Given the description of an element on the screen output the (x, y) to click on. 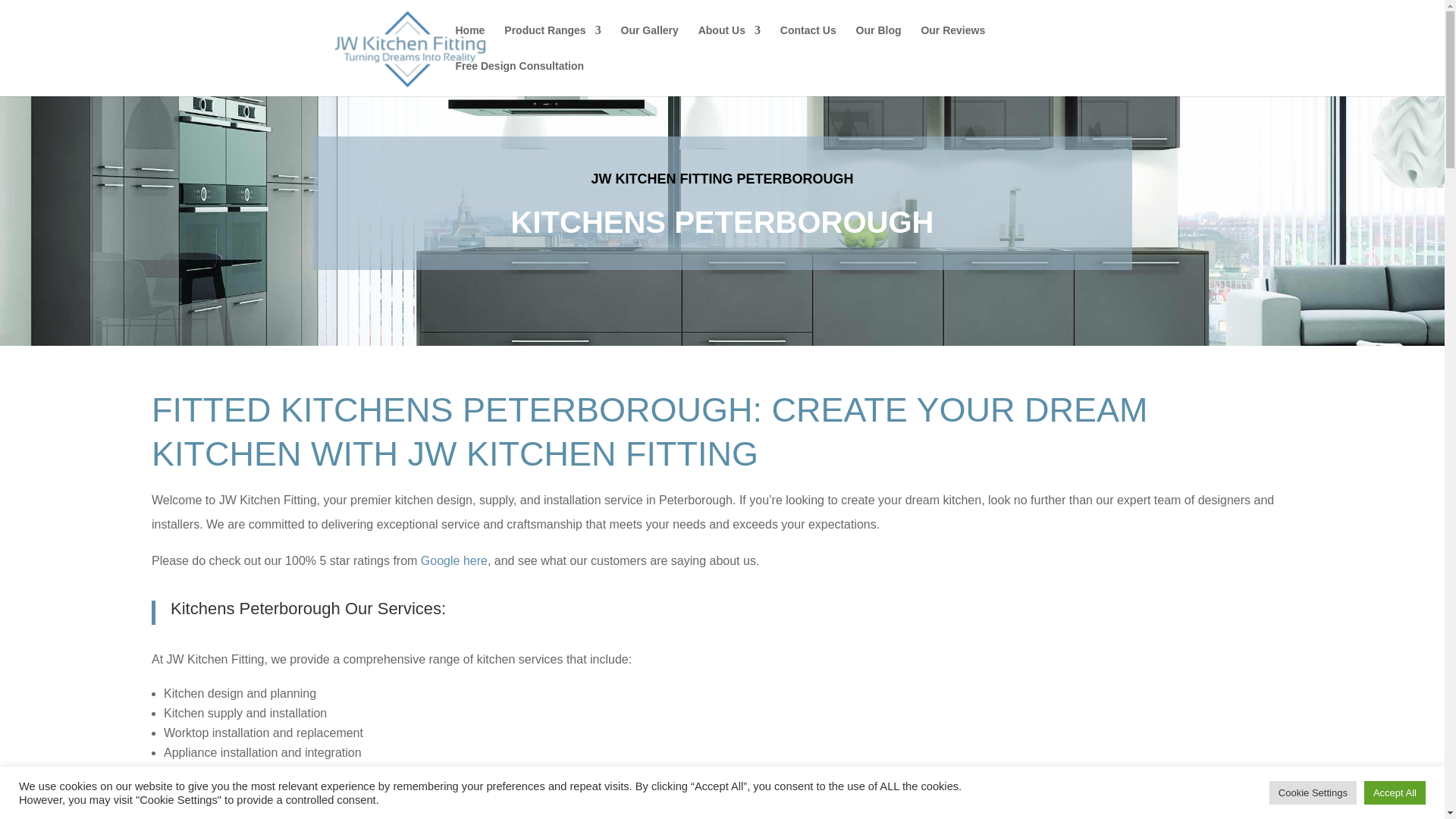
Google here (453, 560)
Our Gallery (649, 42)
Free Design Consultation (518, 78)
Product Ranges (551, 42)
About Us (729, 42)
Our Blog (878, 42)
Our Reviews (952, 42)
Contact Us (807, 42)
